Given the description of an element on the screen output the (x, y) to click on. 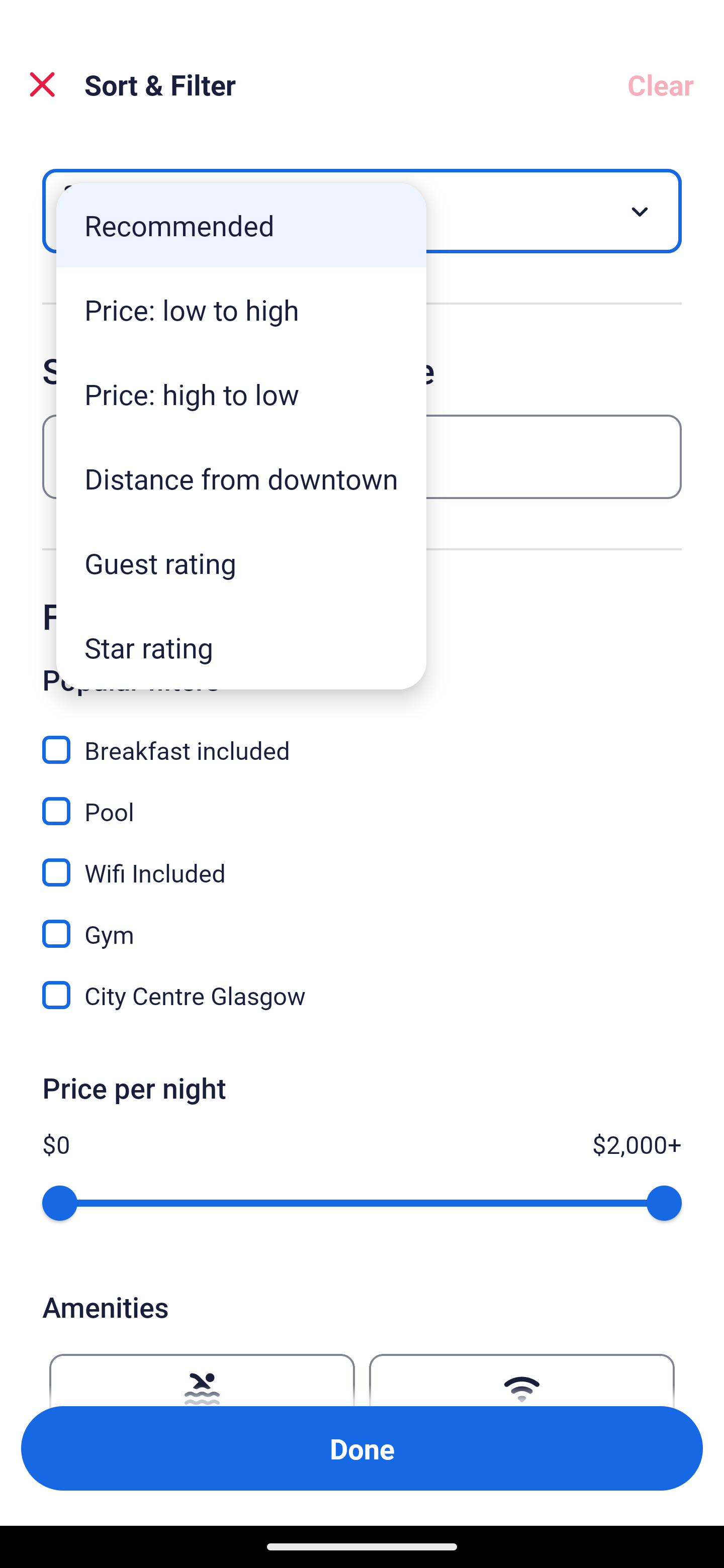
Price: low to high (241, 309)
Price: high to low (241, 393)
Distance from downtown (241, 477)
Guest rating (241, 562)
Star rating (241, 647)
